Given the description of an element on the screen output the (x, y) to click on. 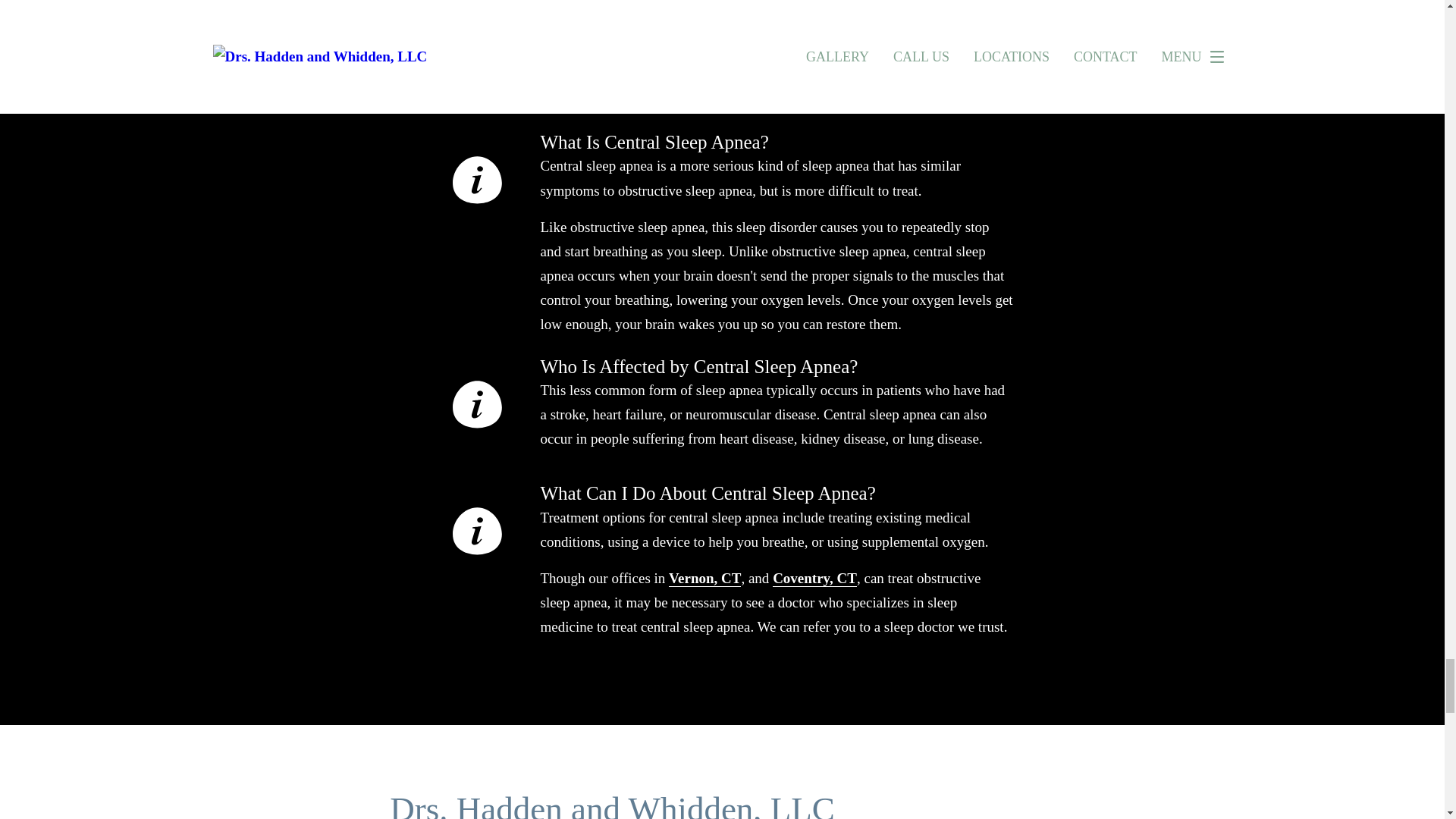
Coventry, CT (815, 578)
Vernon, CT (704, 578)
